Given the description of an element on the screen output the (x, y) to click on. 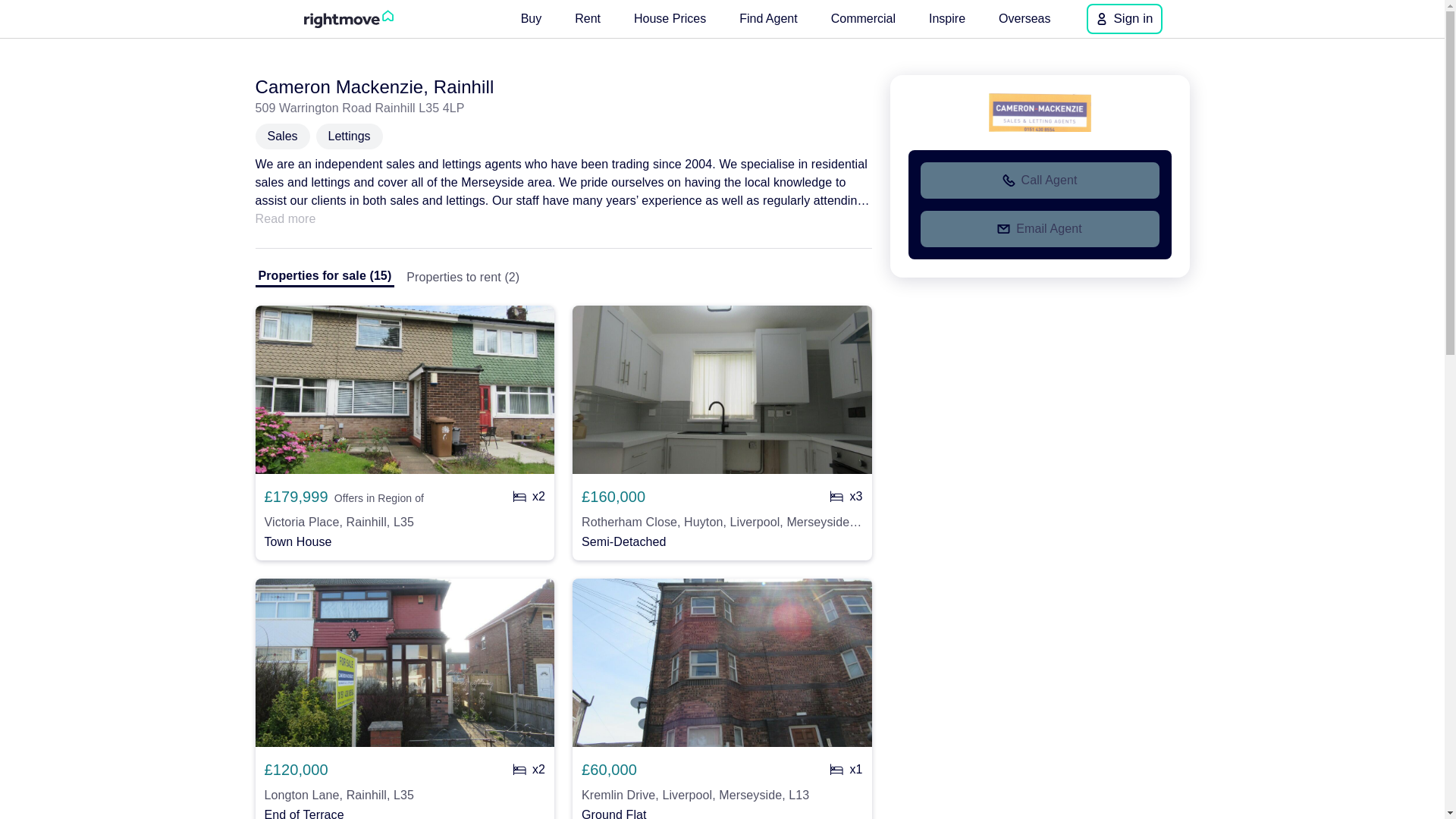
Rent (588, 18)
Commercial (863, 18)
Inspire (947, 18)
House Prices (669, 18)
Overseas (1024, 18)
Buy (531, 18)
Find Agent (768, 18)
